Given the description of an element on the screen output the (x, y) to click on. 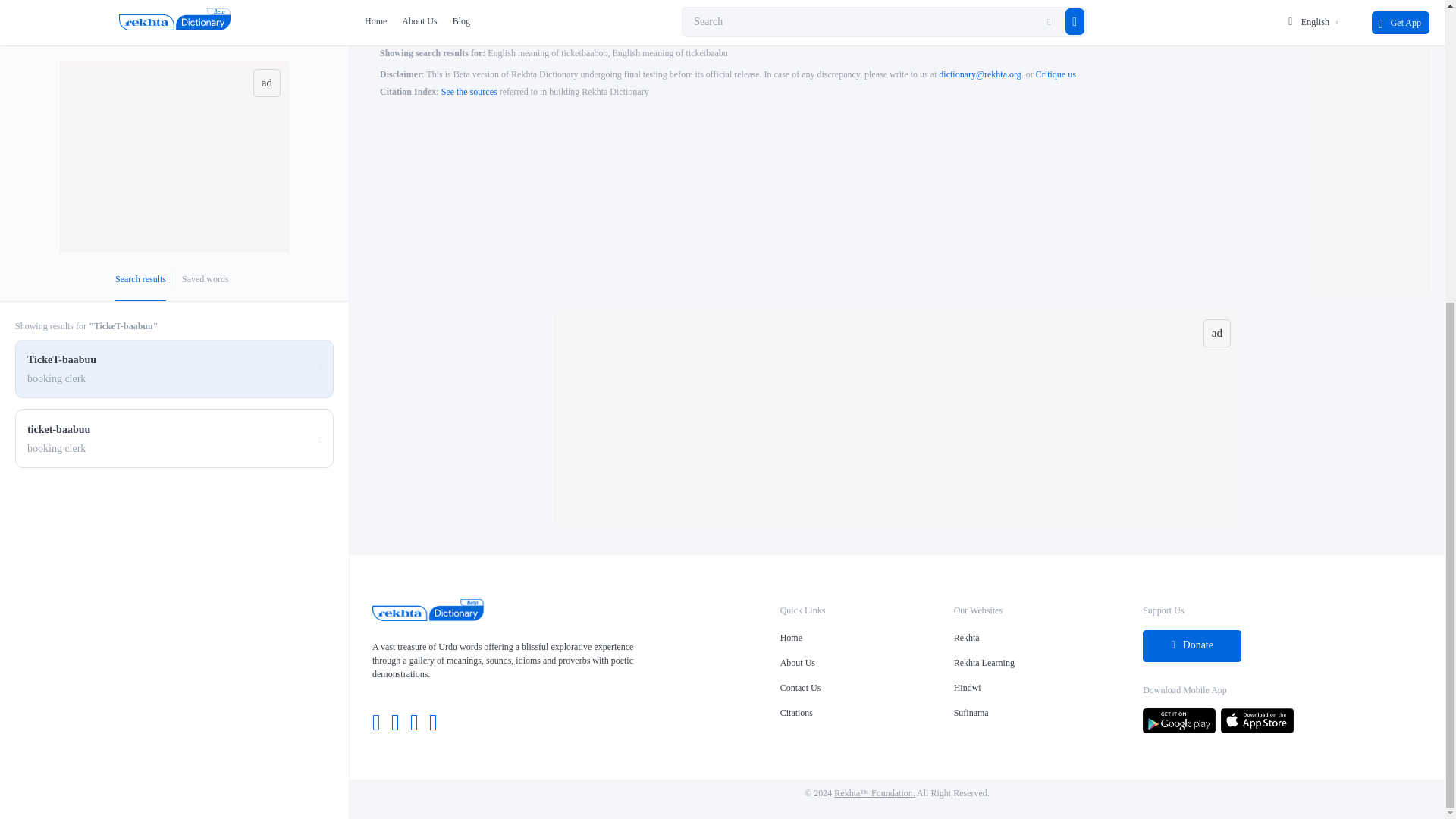
logo (427, 617)
See the sources (469, 91)
Critique us (1055, 73)
Citation (469, 91)
Critique us (1055, 73)
